Given the description of an element on the screen output the (x, y) to click on. 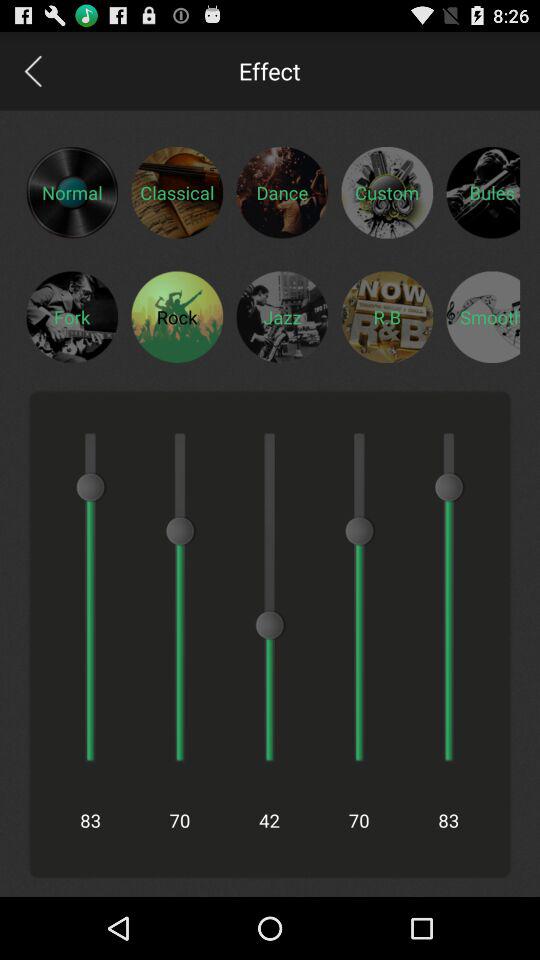
access jazz effects (282, 316)
